Given the description of an element on the screen output the (x, y) to click on. 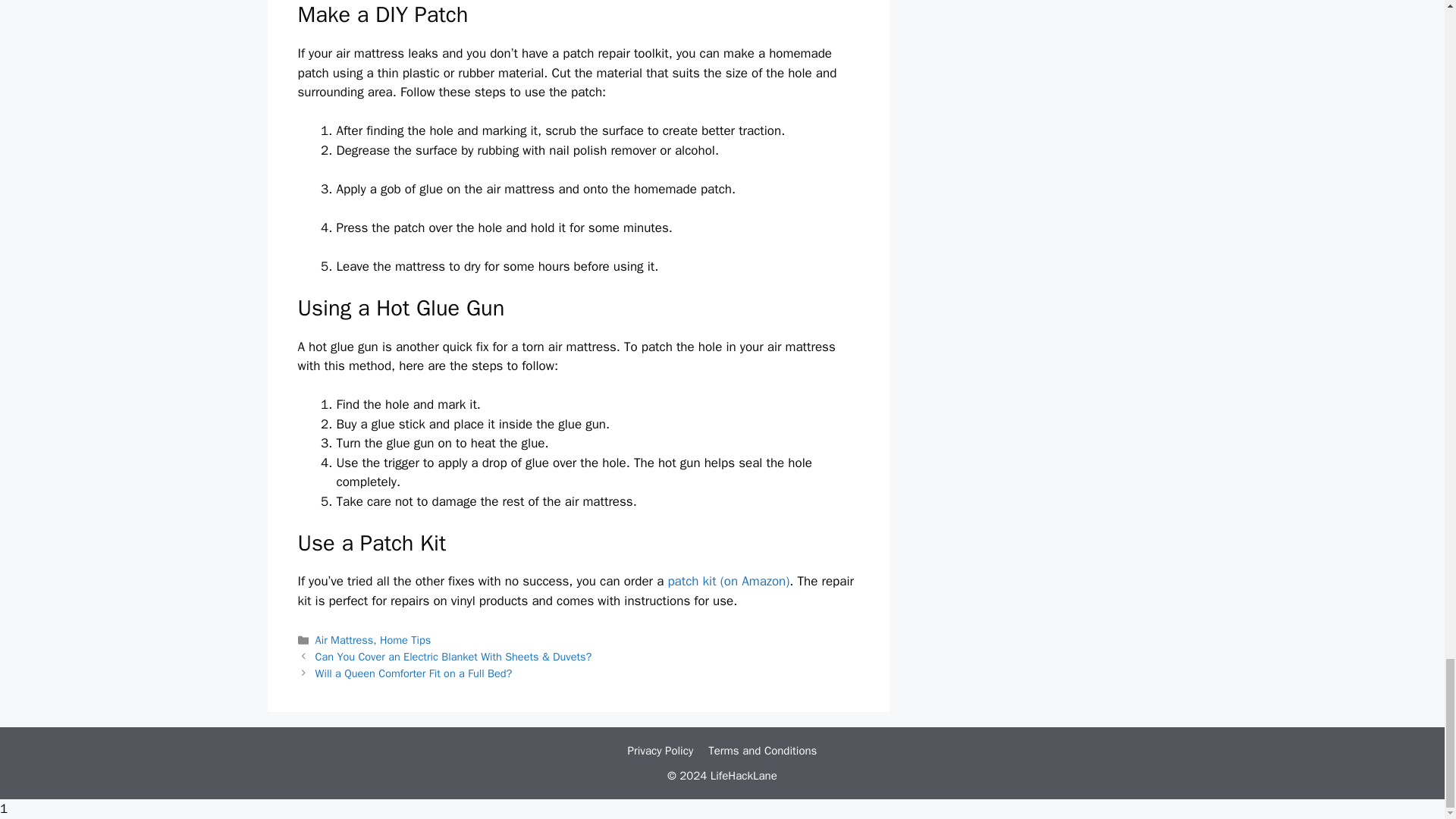
Home Tips (405, 640)
Will a Queen Comforter Fit on a Full Bed? (413, 673)
Terms and Conditions (761, 750)
Air Mattress (344, 640)
Privacy Policy (660, 750)
